Given the description of an element on the screen output the (x, y) to click on. 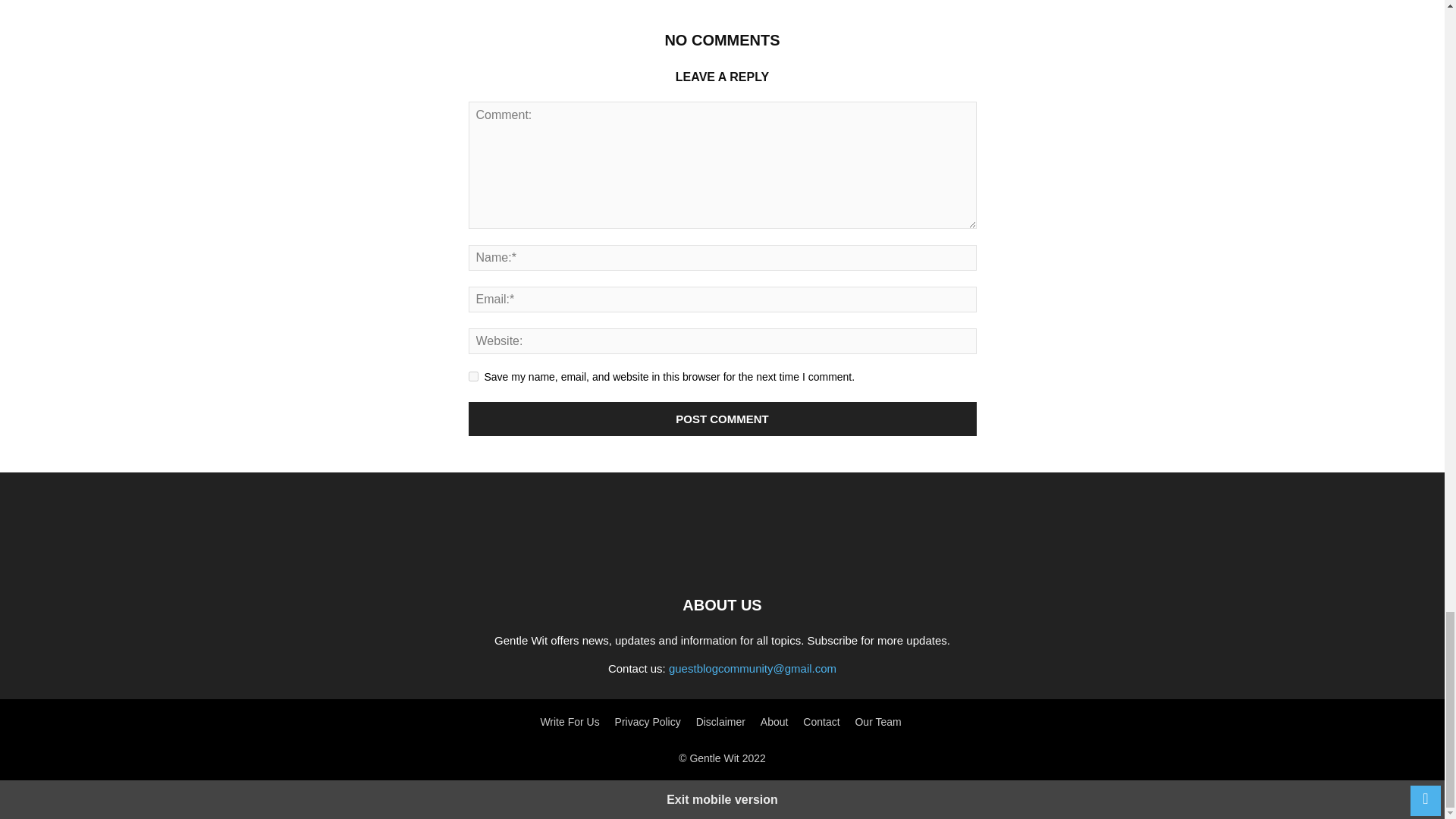
yes (473, 376)
Post Comment (722, 418)
Privacy Policy (647, 721)
Post Comment (722, 418)
Write For Us (569, 721)
